Given the description of an element on the screen output the (x, y) to click on. 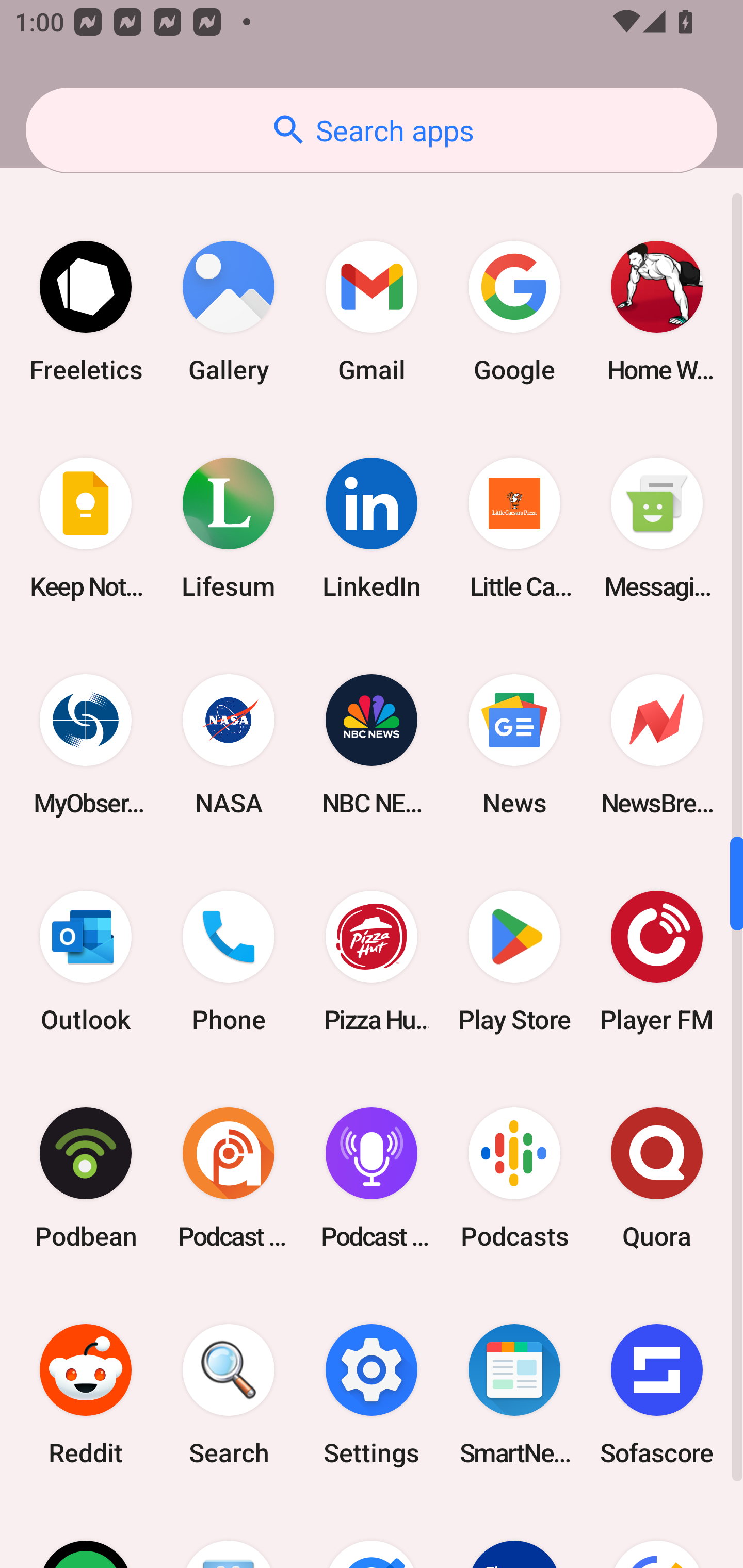
  Search apps (371, 130)
Freeletics (85, 311)
Gallery (228, 311)
Gmail (371, 311)
Google (514, 311)
Home Workout (656, 311)
Keep Notes (85, 528)
Lifesum (228, 528)
LinkedIn (371, 528)
Little Caesars Pizza (514, 528)
Messaging (656, 528)
MyObservatory (85, 744)
NASA (228, 744)
NBC NEWS (371, 744)
News (514, 744)
NewsBreak (656, 744)
Outlook (85, 960)
Phone (228, 960)
Pizza Hut HK & Macau (371, 960)
Play Store (514, 960)
Player FM (656, 960)
Podbean (85, 1177)
Podcast Addict (228, 1177)
Podcast Player (371, 1177)
Podcasts (514, 1177)
Quora (656, 1177)
Reddit (85, 1394)
Search (228, 1394)
Settings (371, 1394)
SmartNews (514, 1394)
Sofascore (656, 1394)
